Given the description of an element on the screen output the (x, y) to click on. 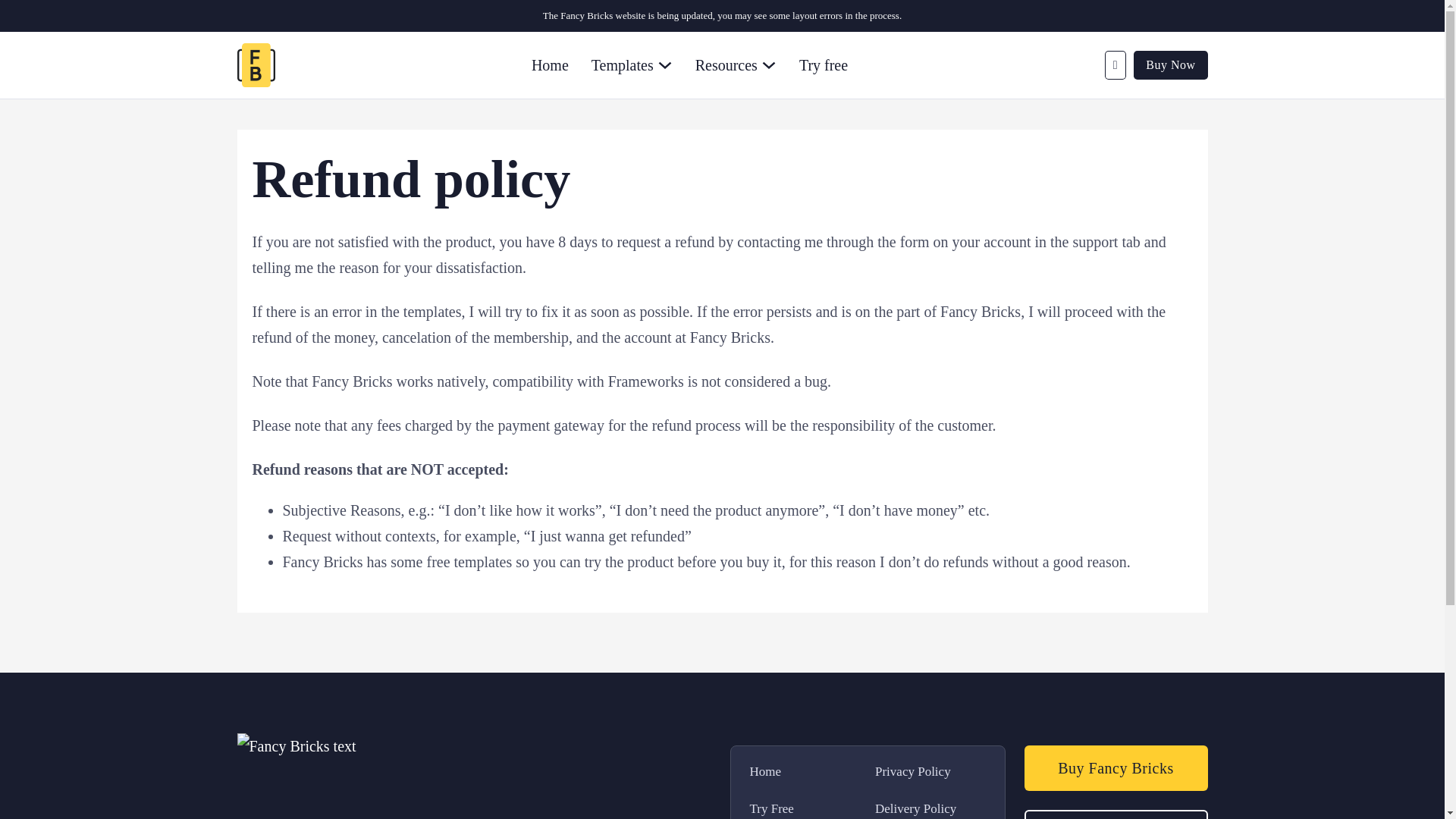
Buy Fancy Bricks (1115, 768)
Delivery Policy (915, 808)
Buy Now (1170, 64)
Home (550, 65)
Privacy Policy (915, 771)
Home (773, 771)
Fancy Animations (1115, 814)
Try Free (773, 808)
Try free (823, 65)
